Given the description of an element on the screen output the (x, y) to click on. 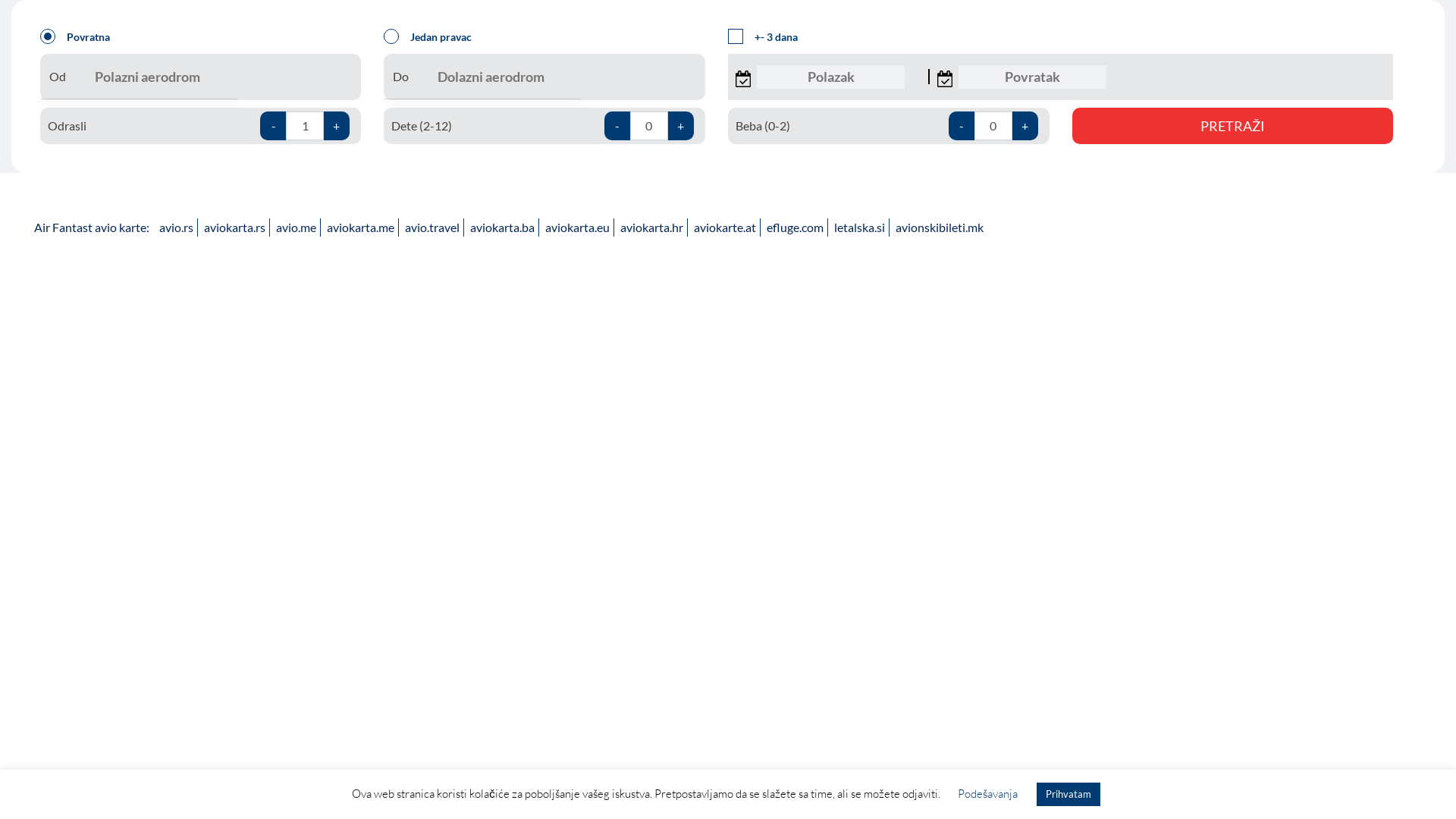
aviokarta.me Element type: text (360, 226)
avionskibileti.mk Element type: text (939, 226)
aviokarta.hr Element type: text (651, 226)
aviokarte.at Element type: text (724, 226)
- Element type: text (617, 125)
- Element type: text (273, 125)
- Element type: text (961, 125)
avio.travel Element type: text (431, 226)
Air Fantast avio karte: Element type: text (91, 226)
Prihvatam Element type: text (1068, 794)
+ Element type: text (1024, 125)
letalska.si Element type: text (859, 226)
aviokarta.ba Element type: text (502, 226)
avio.me Element type: text (296, 226)
aviokarta.rs Element type: text (234, 226)
+ Element type: text (336, 125)
aviokarta.eu Element type: text (577, 226)
efluge.com Element type: text (794, 226)
+ Element type: text (680, 125)
avio.rs Element type: text (176, 226)
